Given the description of an element on the screen output the (x, y) to click on. 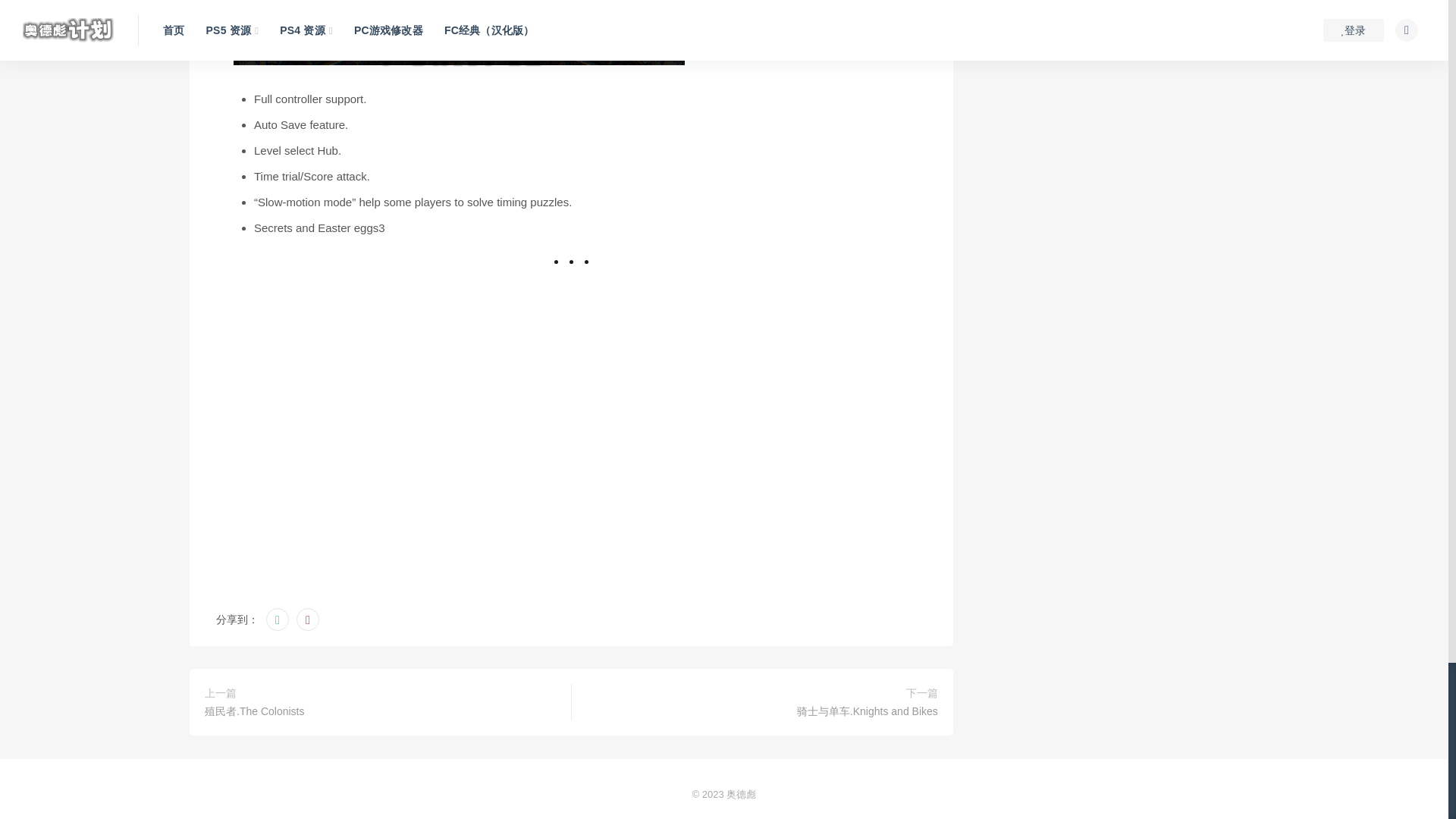
1702882388-b6eead44eb78eed.gif (458, 47)
